Given the description of an element on the screen output the (x, y) to click on. 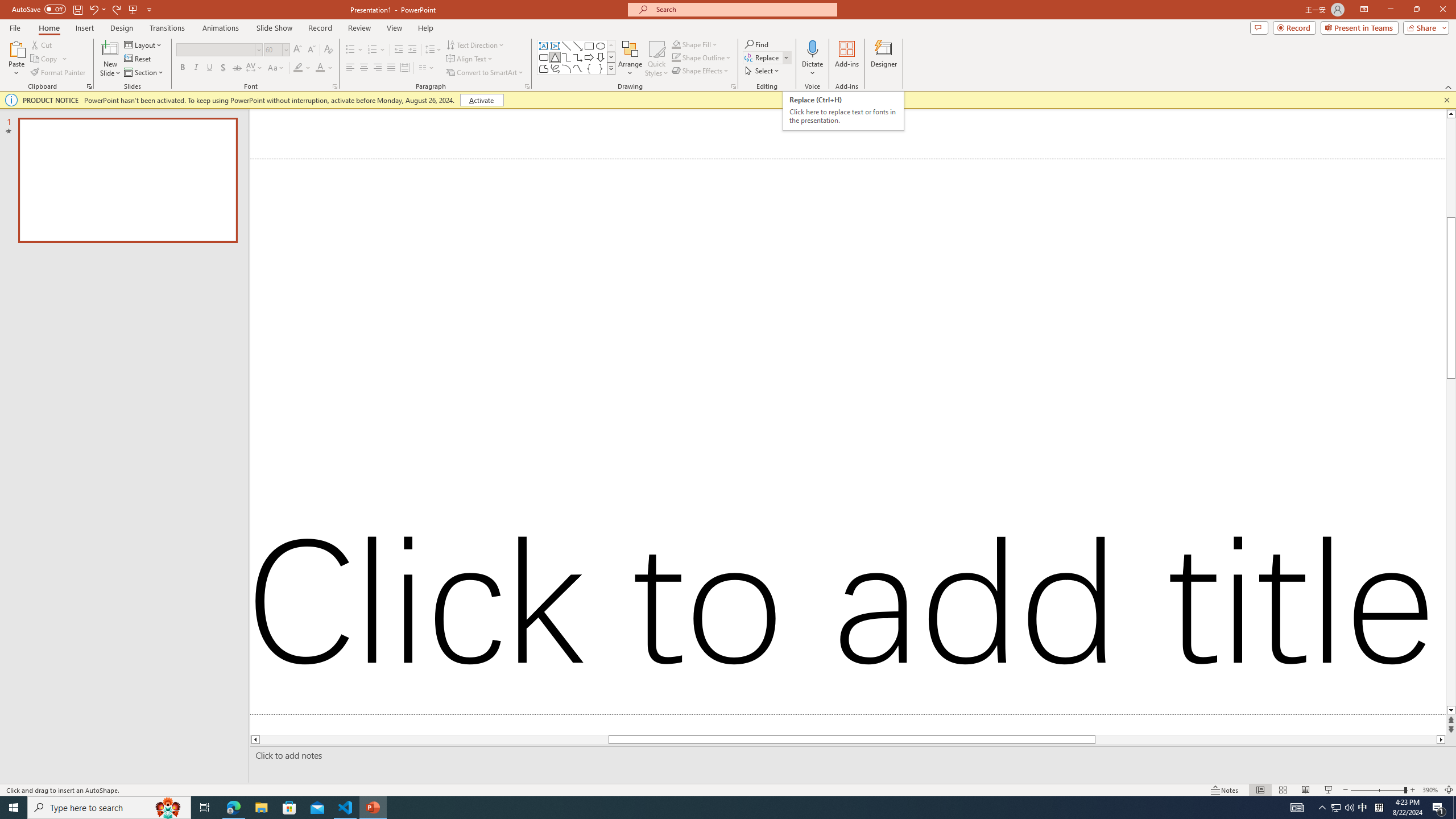
Shape Outline Dark Red, Accent 1 (675, 56)
